Given the description of an element on the screen output the (x, y) to click on. 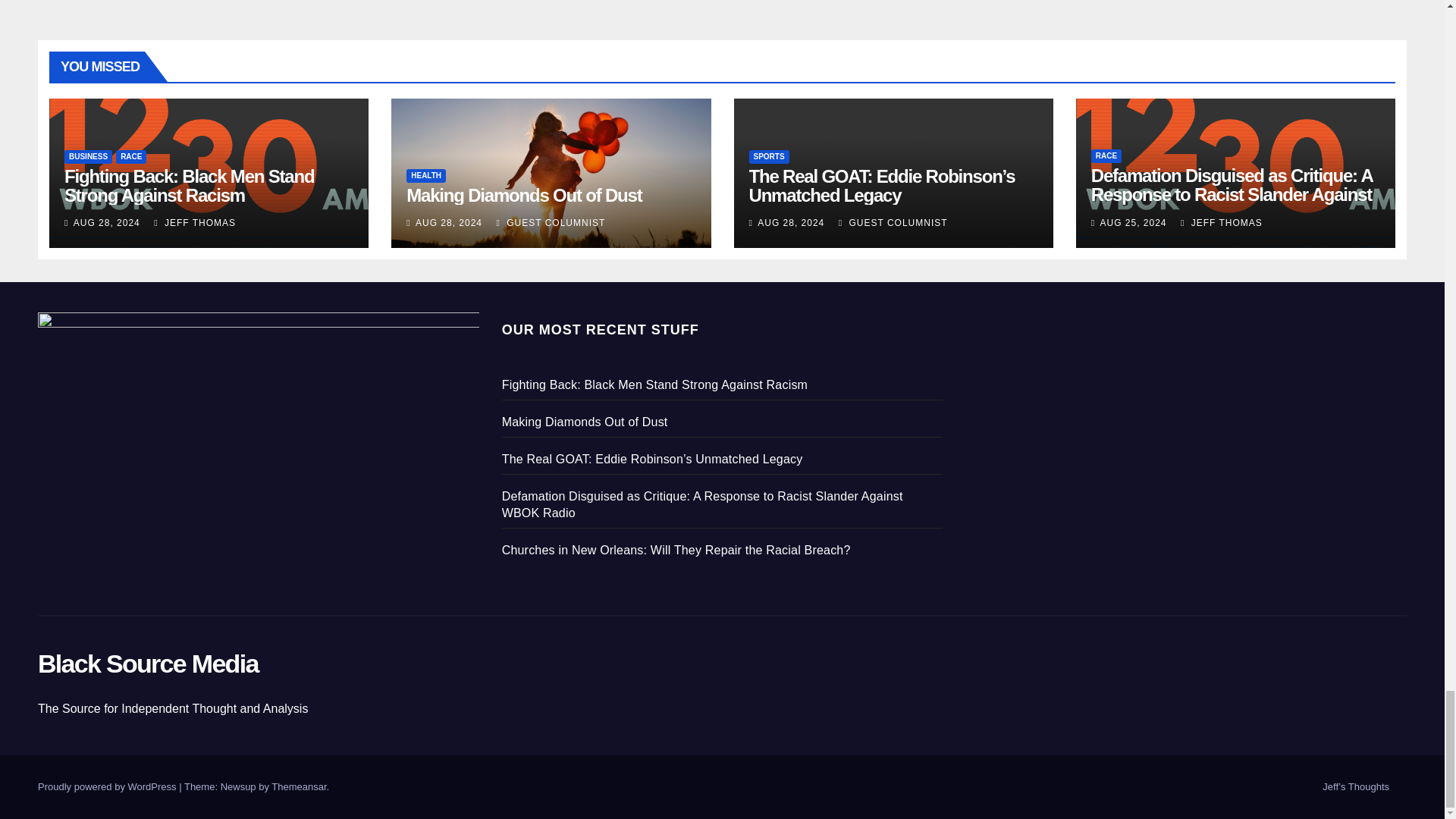
Permalink to: Making Diamonds Out of Dust (524, 195)
